Given the description of an element on the screen output the (x, y) to click on. 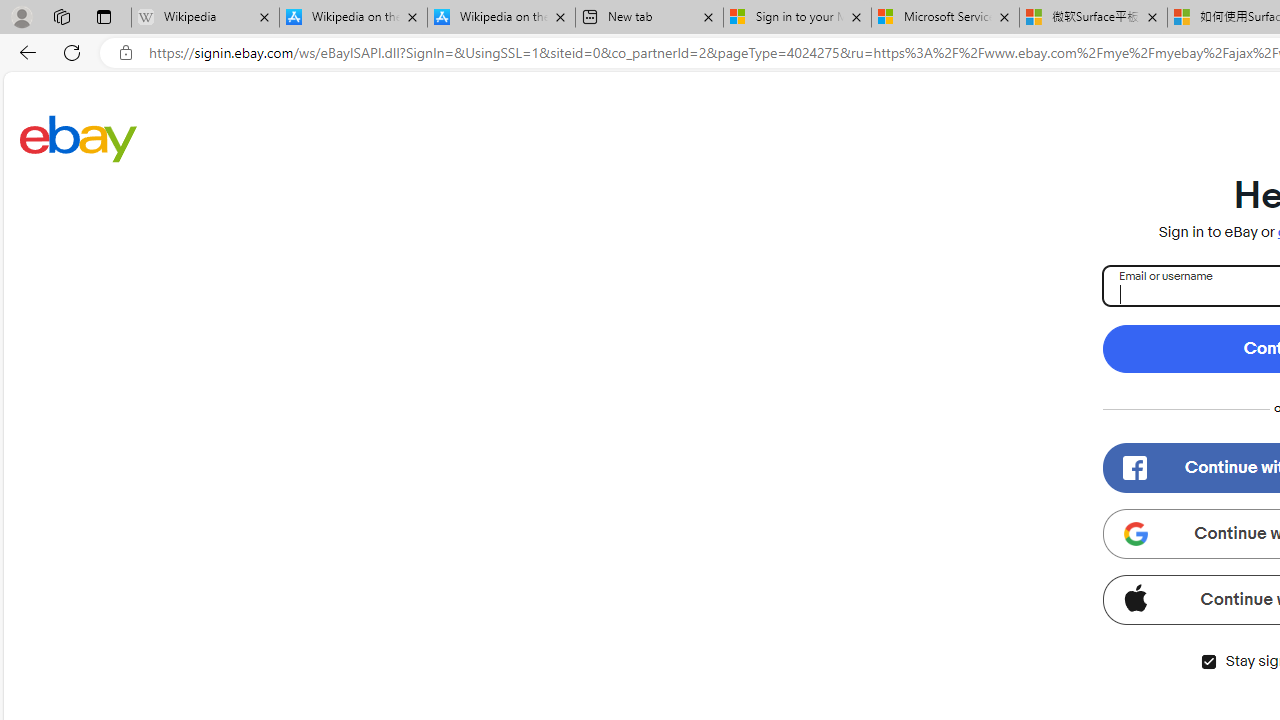
Microsoft Services Agreement (944, 17)
Class: ggl-icon (1135, 533)
Sign in to your Microsoft account (797, 17)
